Given the description of an element on the screen output the (x, y) to click on. 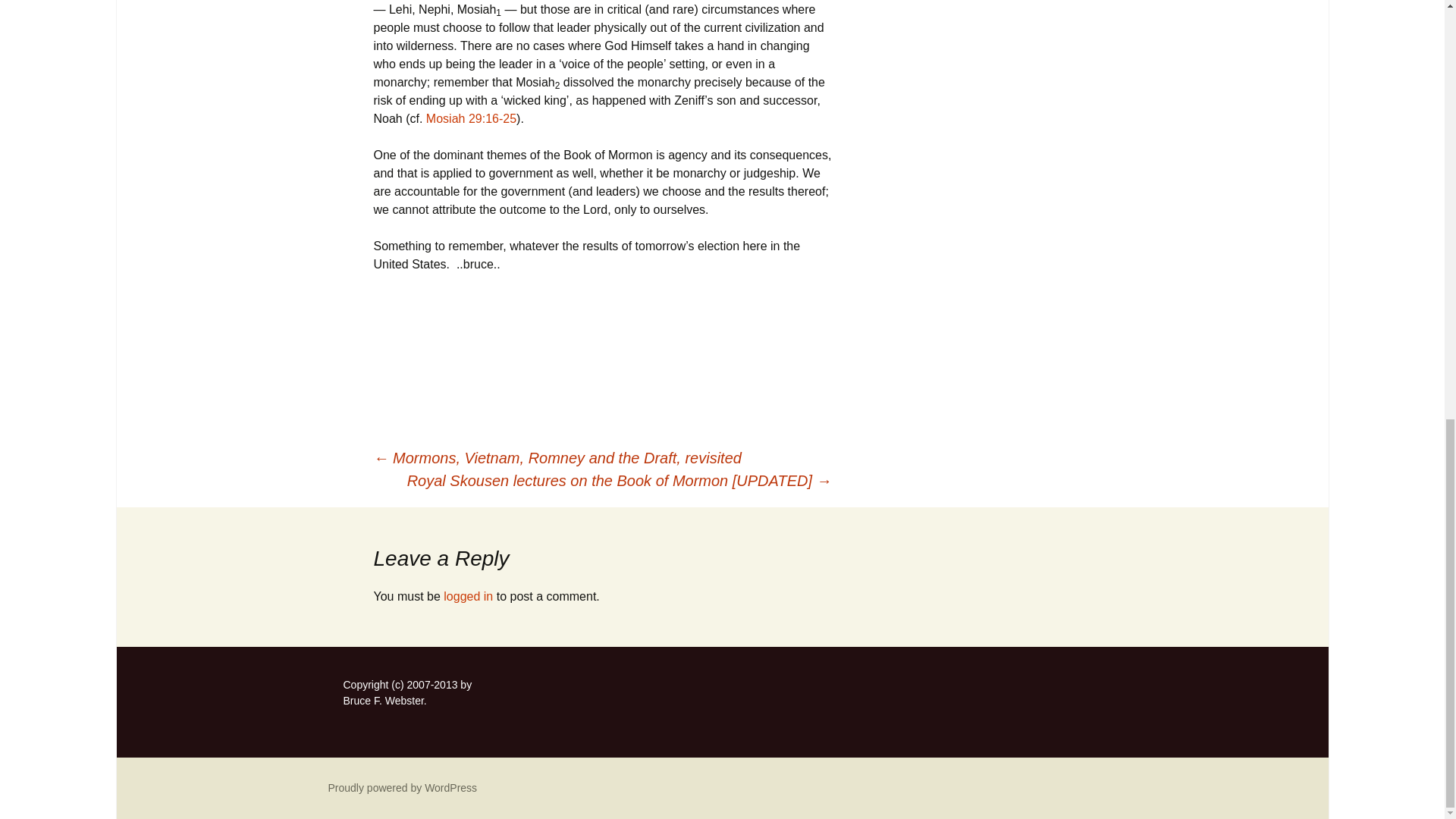
Mosiah 29:16-25 (471, 118)
Proudly powered by WordPress (402, 787)
logged in (468, 595)
